Given the description of an element on the screen output the (x, y) to click on. 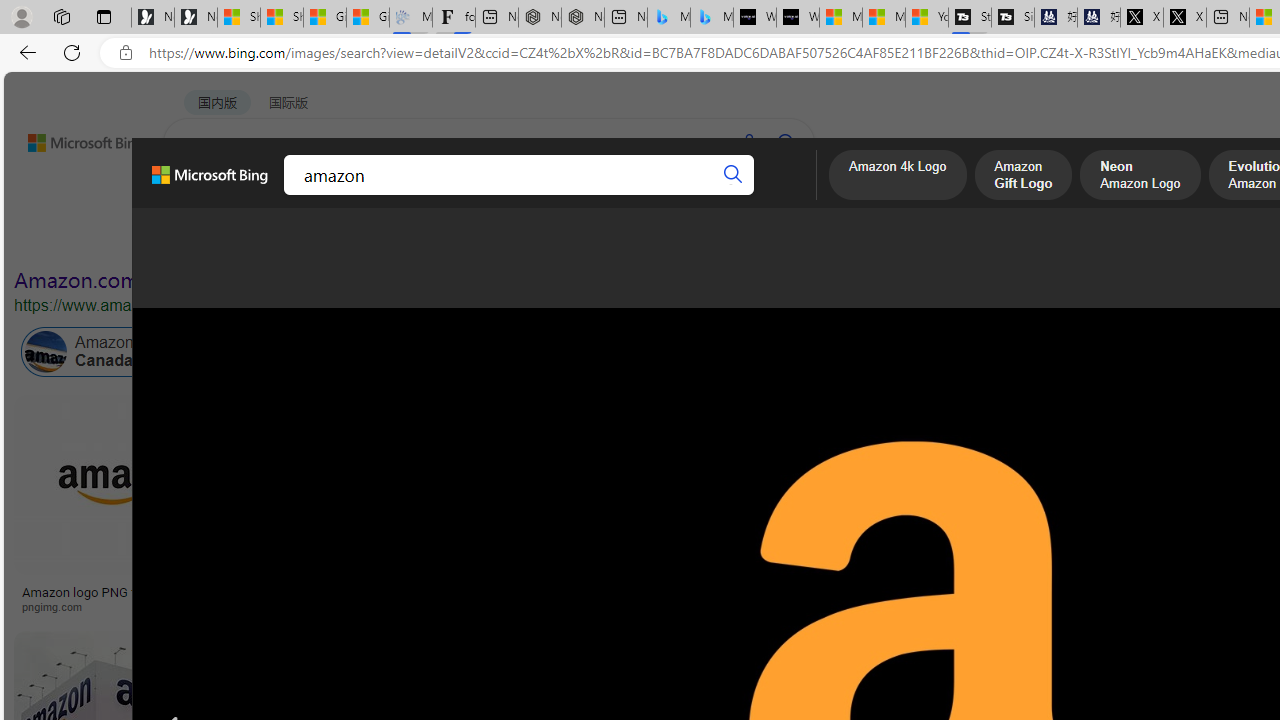
Type (372, 237)
Color (305, 237)
Kindle Paperwhite Case (1087, 524)
Image size (221, 237)
Amazon Logo Png Hd Wallpaper | Images and Photos finder (903, 598)
Class: item col (893, 351)
Date (591, 237)
aiophotoz.com (868, 605)
DICT (630, 195)
